Given the description of an element on the screen output the (x, y) to click on. 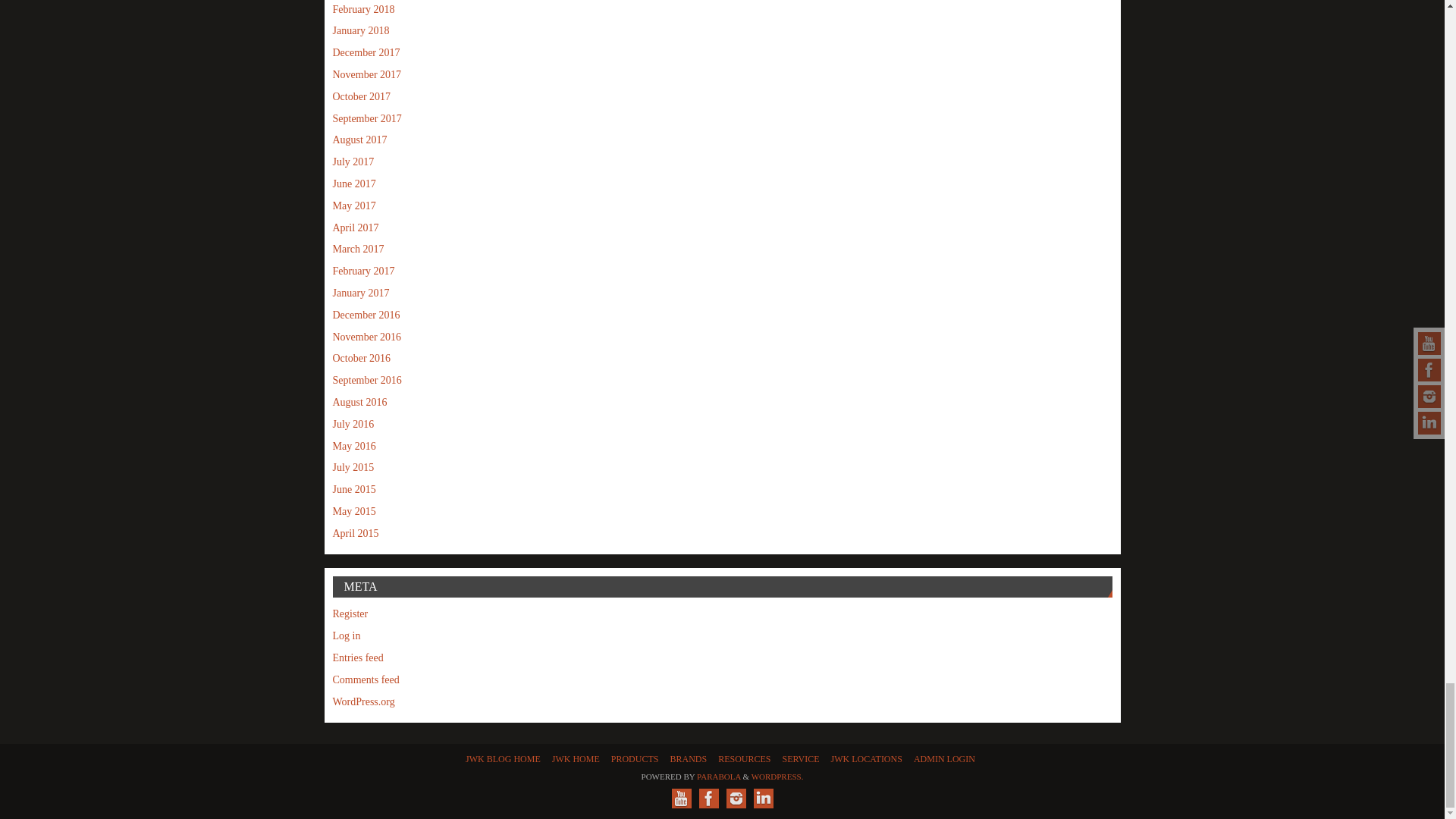
Semantic Personal Publishing Platform (777, 776)
John W Kennedy Company YouTube Channel (681, 798)
Parabola Theme by Cryout Creations (719, 776)
